Given the description of an element on the screen output the (x, y) to click on. 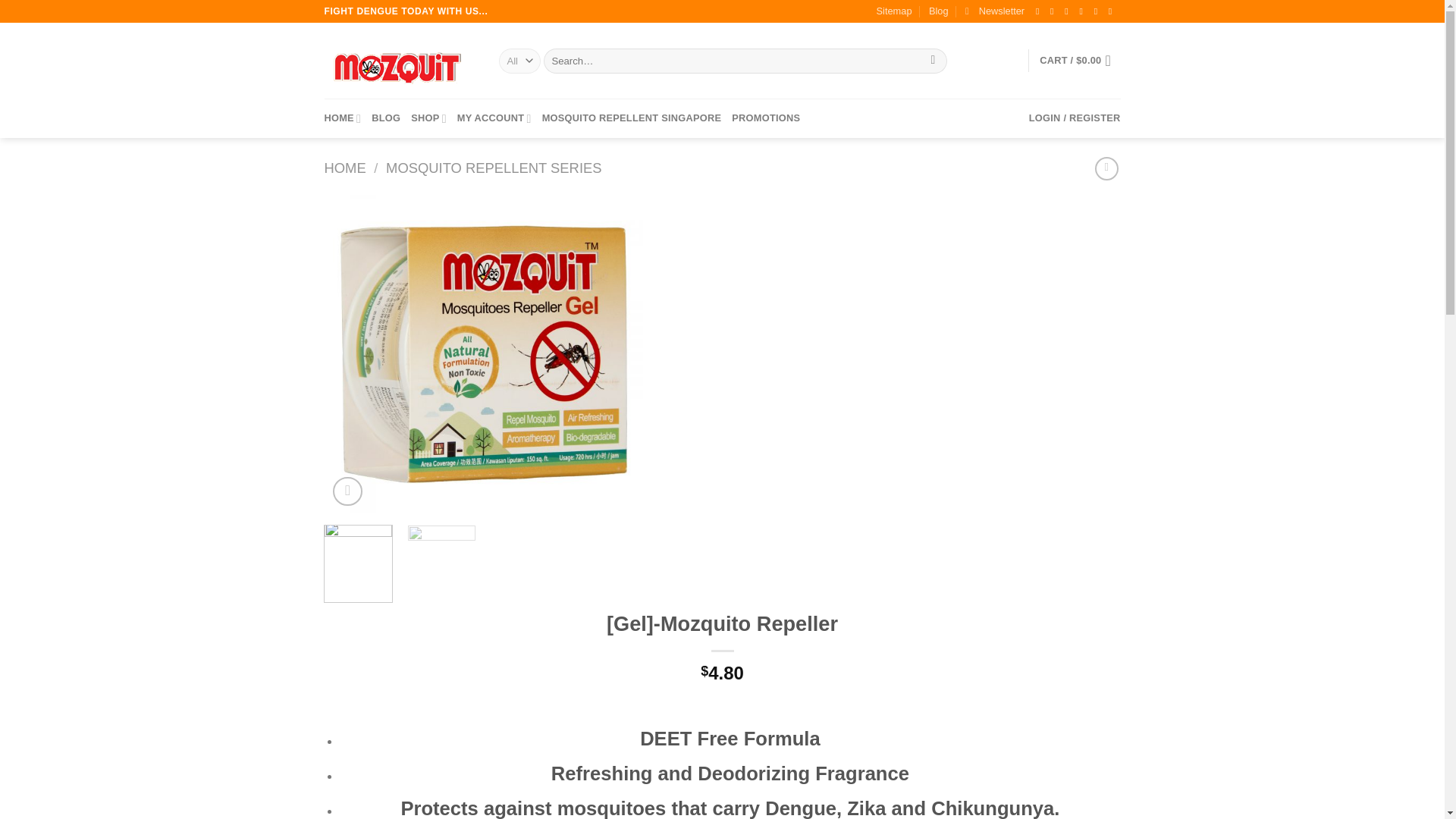
HOME (342, 118)
Follow on Instagram (1054, 10)
Sign up for Newsletter (995, 11)
Mozquit - Mosquito Control Singapore (400, 60)
BLOG (385, 118)
PROMOTIONS (765, 118)
HOME (345, 167)
SHOP (428, 118)
MOSQUITO REPELLENT SERIES (493, 167)
Follow on Facebook (1040, 10)
Follow on TikTok (1069, 10)
Search (932, 61)
Send us an email (1098, 10)
Cart (1079, 60)
MOSQUITO REPELLENT SINGAPORE (631, 118)
